Given the description of an element on the screen output the (x, y) to click on. 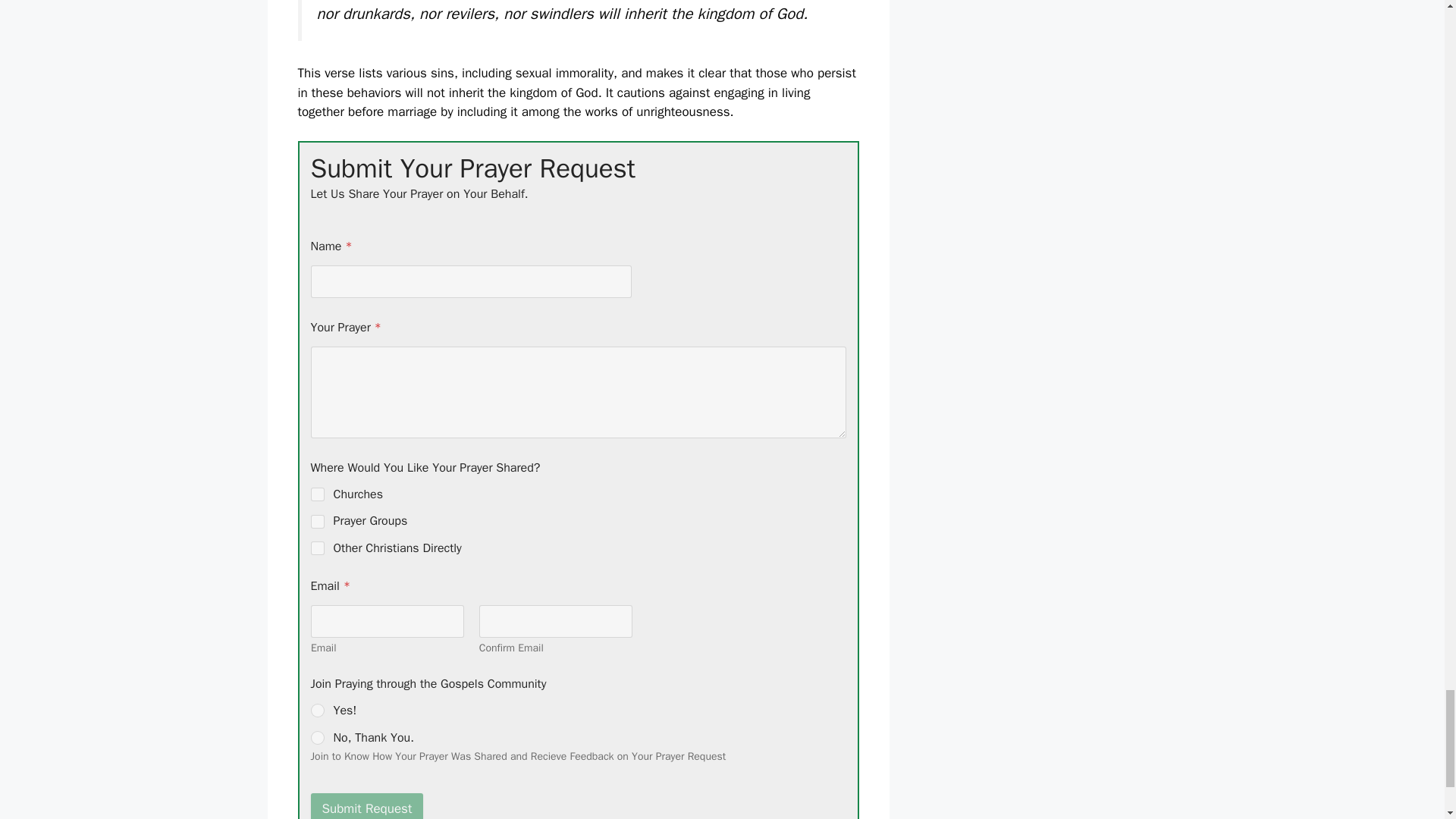
Prayer Groups (318, 521)
Other Christians Directly (318, 547)
Yes! (318, 710)
Churches (318, 493)
Submit Request (367, 806)
No, Thank You. (318, 737)
